Given the description of an element on the screen output the (x, y) to click on. 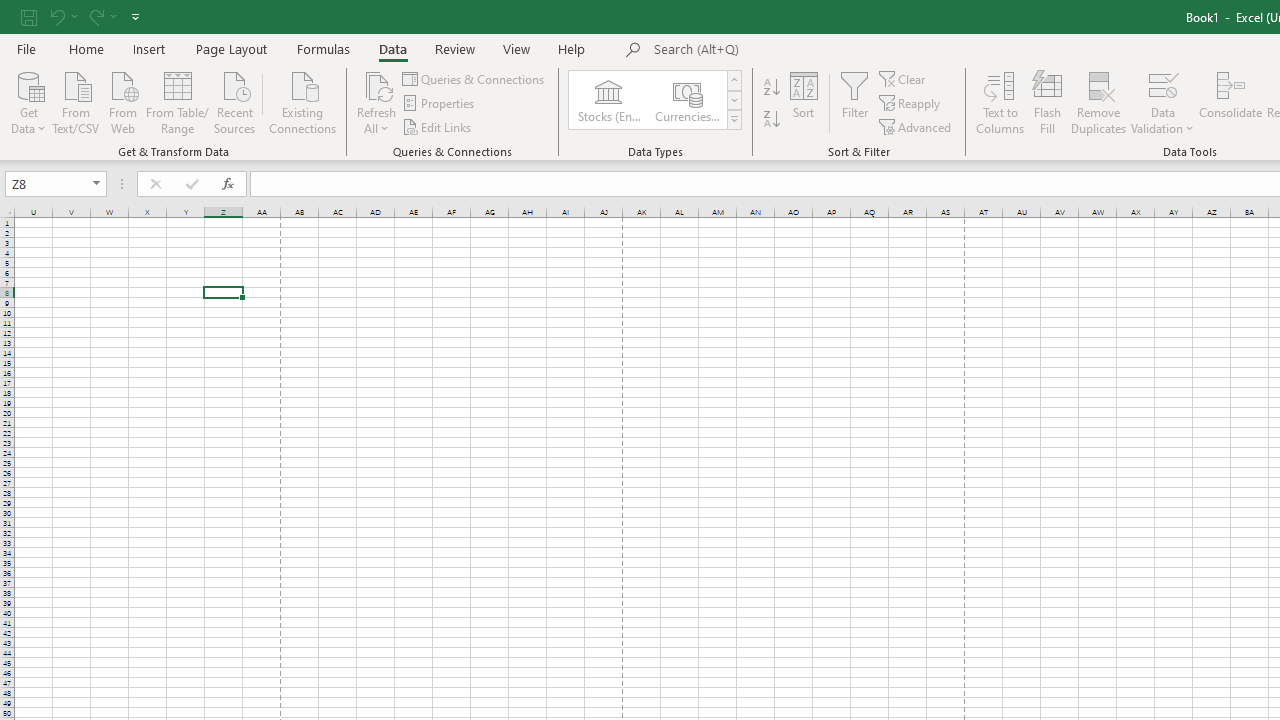
From Table/Range (177, 101)
AutomationID: ConvertToLinkedEntity (655, 99)
Consolidate... (1230, 102)
